Given the description of an element on the screen output the (x, y) to click on. 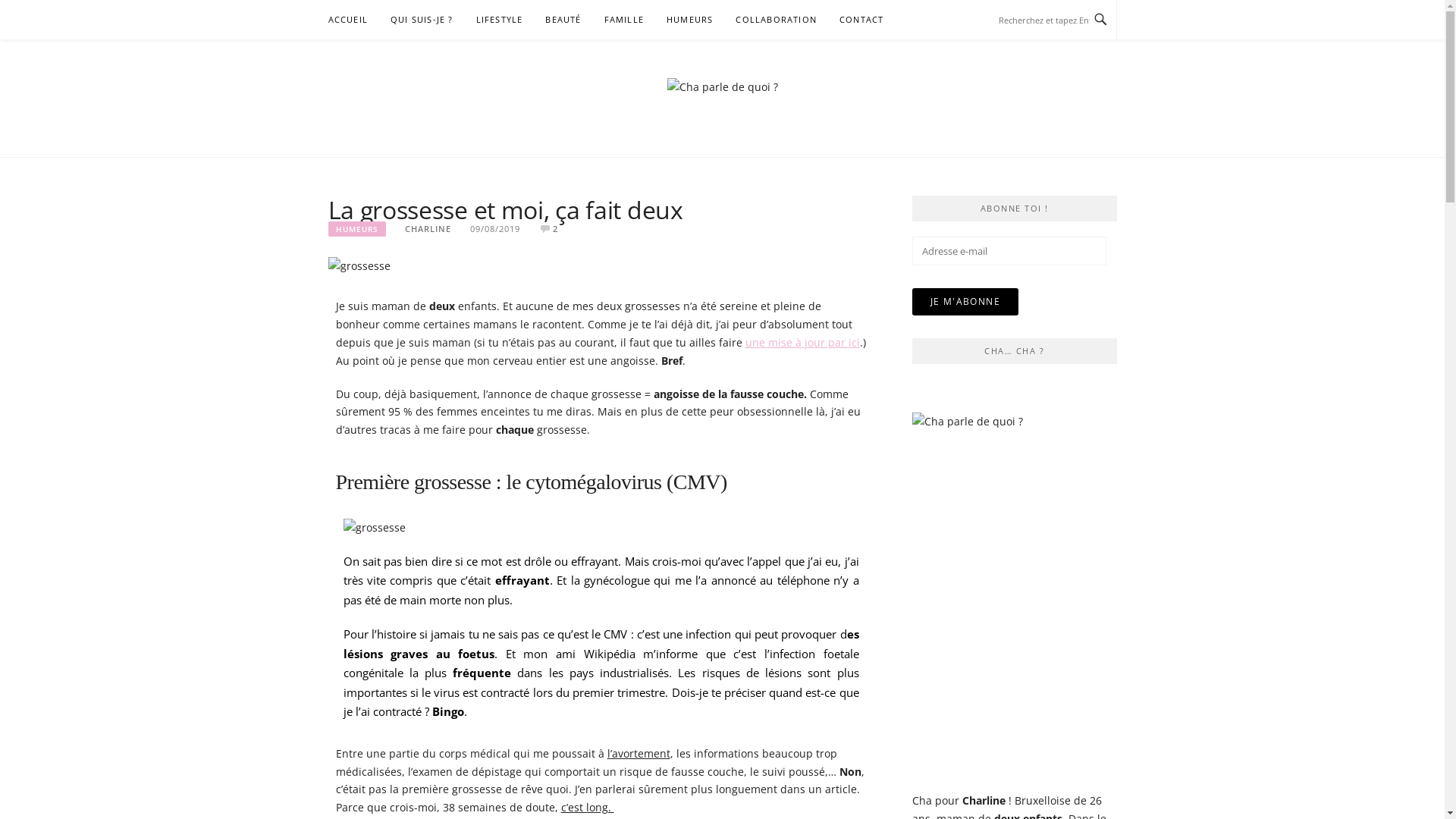
LIFESTYLE Element type: text (499, 19)
CONTACT Element type: text (861, 19)
CHA PARLE DE QUOI ? Element type: text (566, 141)
HUMEURS Element type: text (689, 19)
FAMILLE Element type: text (623, 19)
HUMEURS Element type: text (356, 228)
CHARLINE Element type: text (427, 228)
2 Element type: text (554, 228)
COLLABORATION Element type: text (775, 19)
JE M'ABONNE Element type: text (964, 301)
ACCUEIL Element type: text (347, 19)
QUI SUIS-JE ? Element type: text (421, 19)
